Given the description of an element on the screen output the (x, y) to click on. 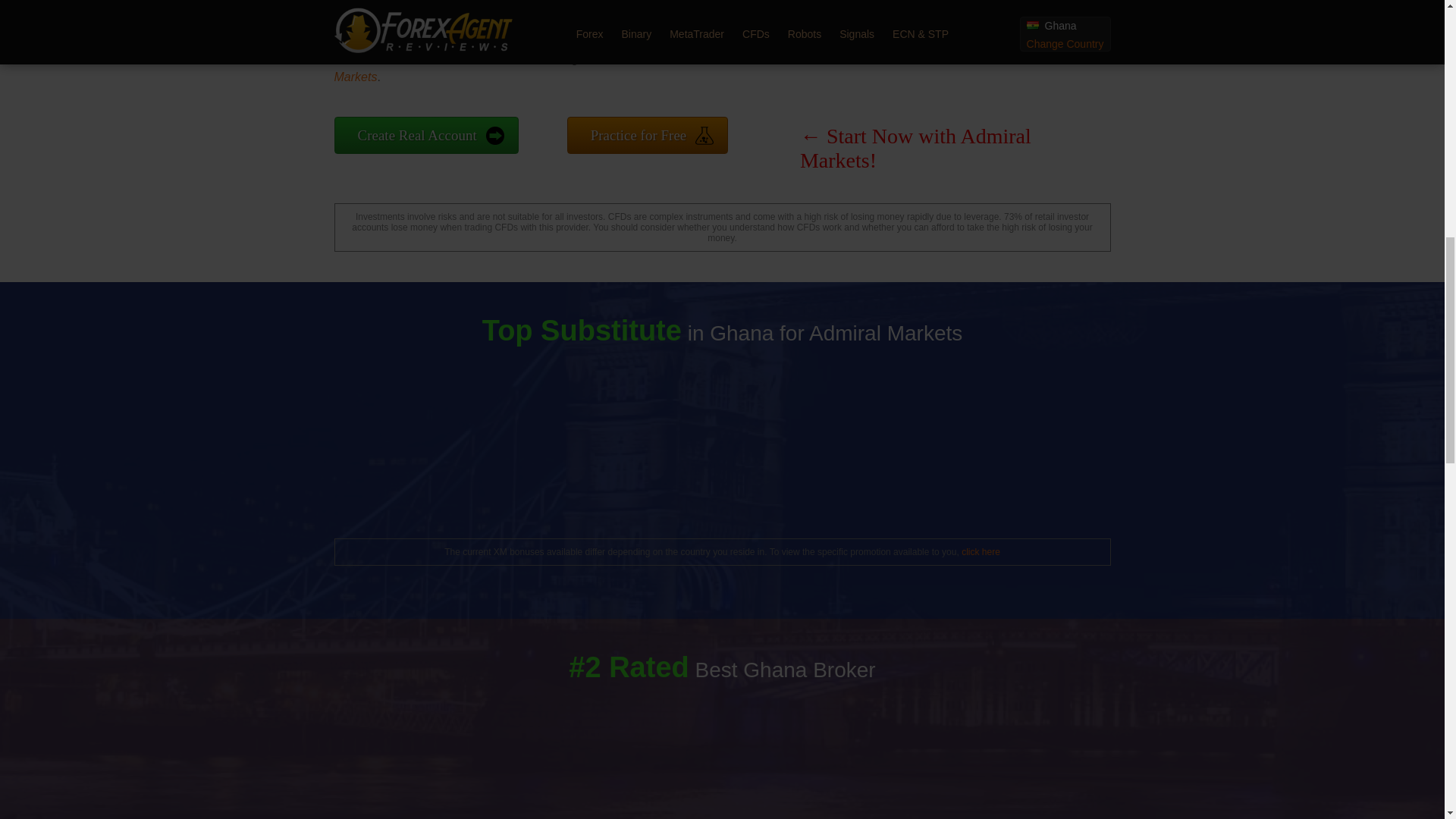
Create Real Account (425, 135)
Review of Admiral Markets (578, 67)
Practice for Free (648, 135)
